Given the description of an element on the screen output the (x, y) to click on. 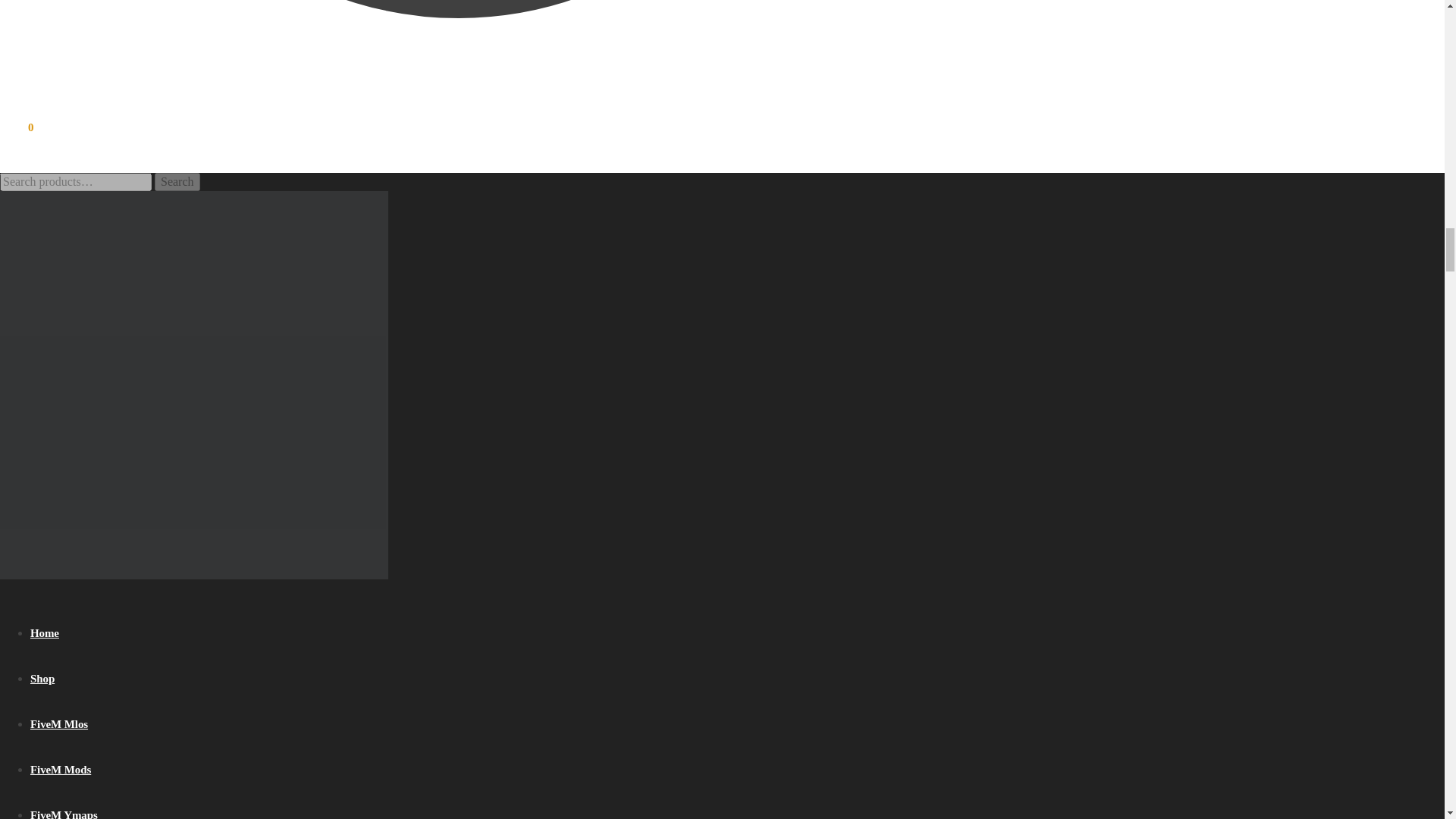
View your shopping cart (16, 127)
Home (44, 633)
Shop (42, 678)
FiveM Mlos (58, 724)
FiveM Mods (60, 769)
Search (177, 181)
Checkout (458, 46)
FiveM Ymaps (63, 814)
